Given the description of an element on the screen output the (x, y) to click on. 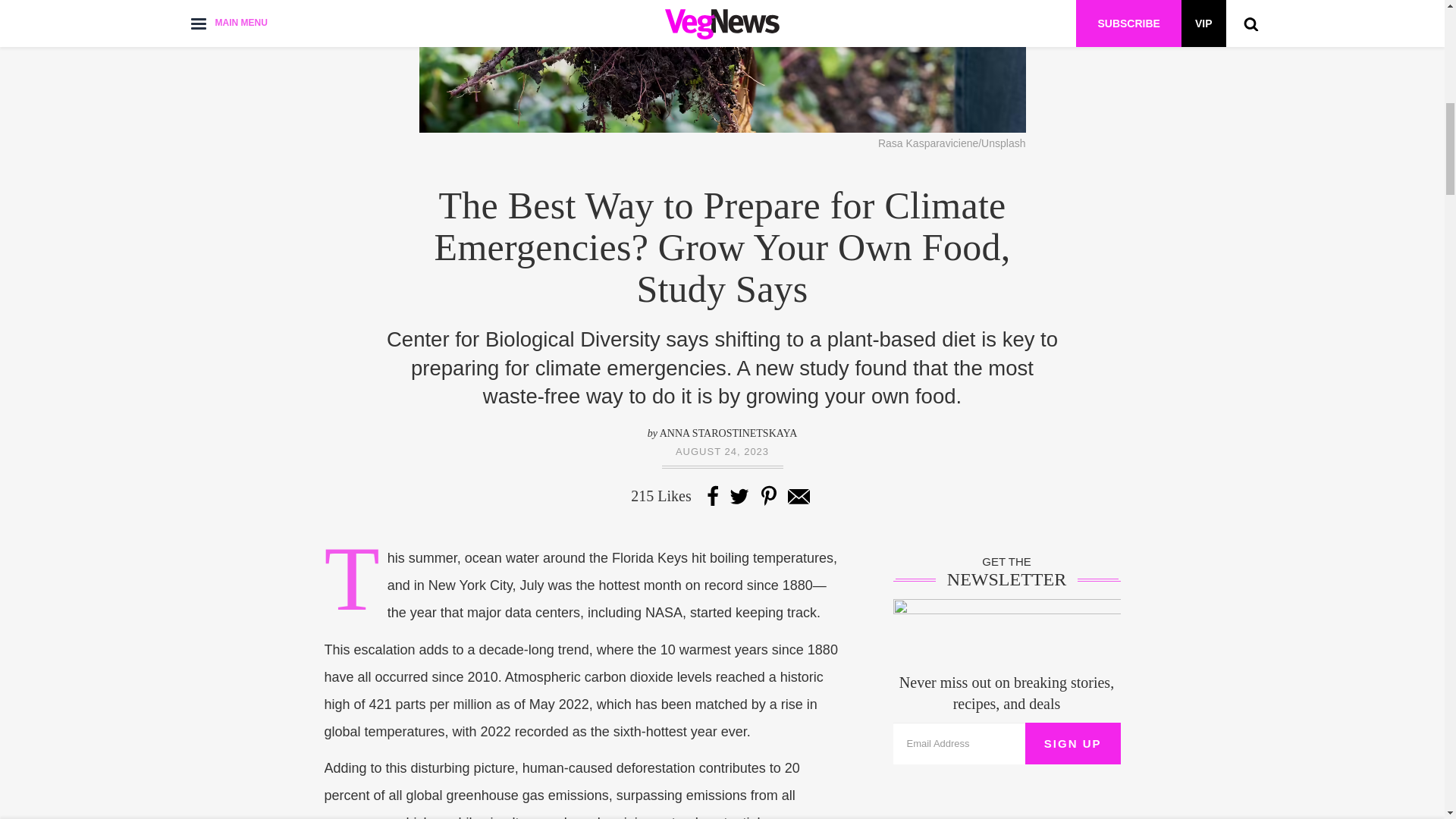
Share article on Twitter (739, 495)
Sign Up (1073, 743)
Share article via email (798, 495)
